Given the description of an element on the screen output the (x, y) to click on. 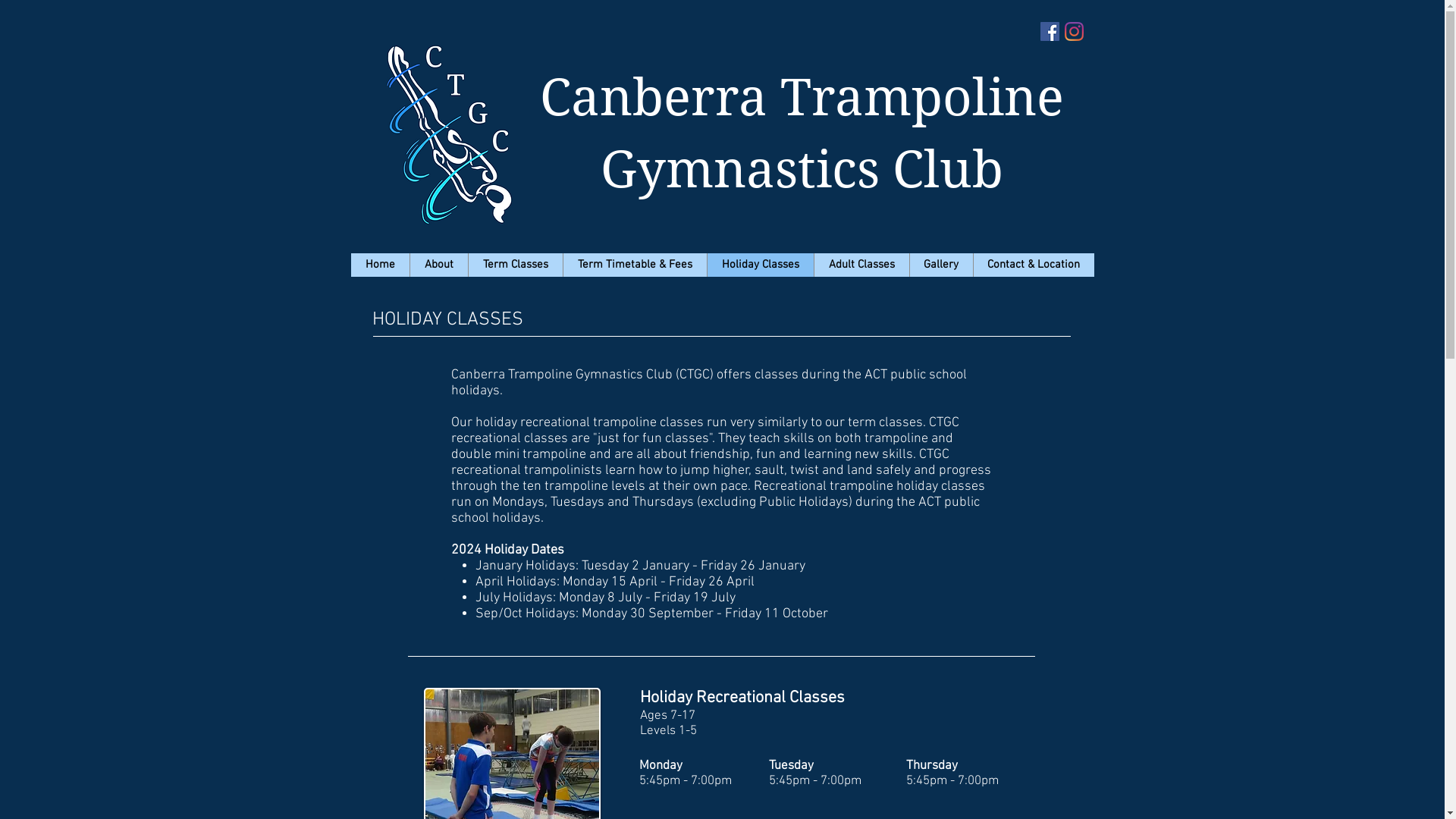
Holiday Classes Element type: text (759, 264)
Contact & Location Element type: text (1032, 264)
Adult Classes Element type: text (860, 264)
Term Timetable & Fees Element type: text (634, 264)
Term Classes Element type: text (514, 264)
Home Element type: text (379, 264)
Gallery Element type: text (940, 264)
About Element type: text (438, 264)
